Given the description of an element on the screen output the (x, y) to click on. 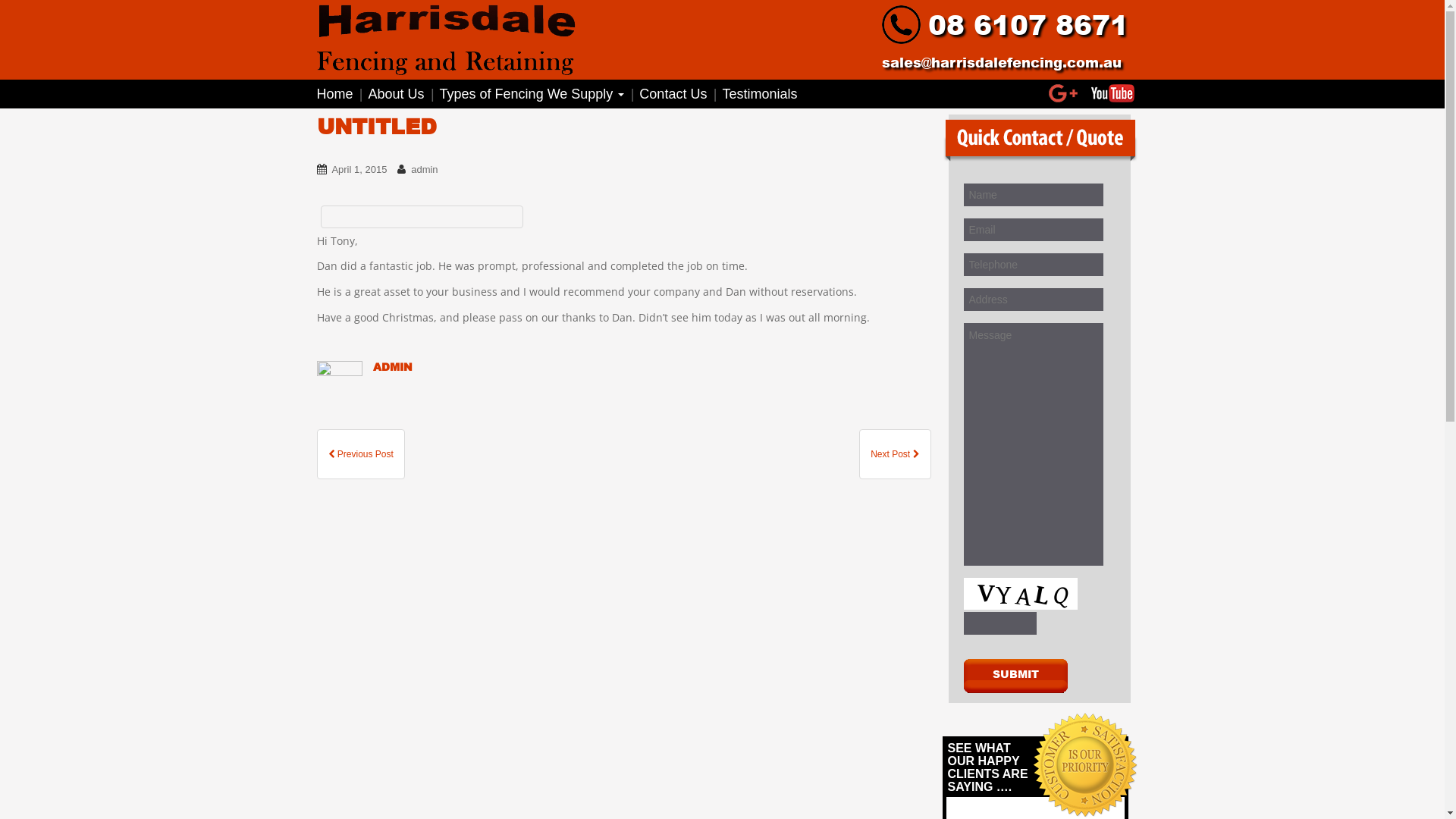
Submit Element type: text (1014, 676)
Home Element type: text (338, 93)
Testimonials Element type: text (759, 93)
Contact Us Element type: text (672, 93)
April 1, 2015 Element type: text (358, 169)
Types of Fencing We Supply Element type: text (532, 93)
ADMIN Element type: text (392, 366)
admin Element type: text (424, 169)
Previous Post Element type: text (360, 454)
About Us Element type: text (396, 93)
Next Post Element type: text (894, 454)
